Given the description of an element on the screen output the (x, y) to click on. 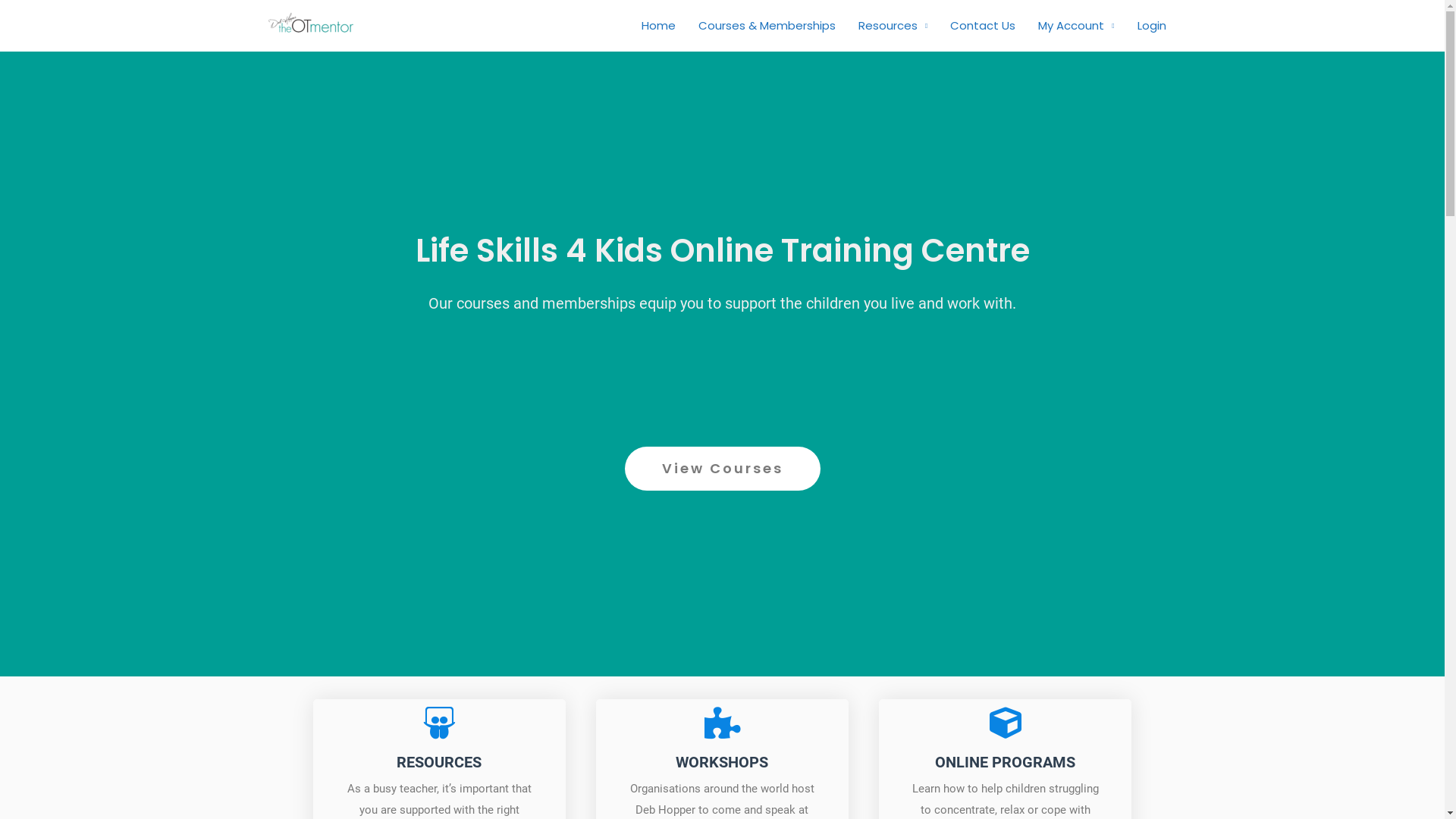
View Courses Element type: text (722, 468)
Resources Element type: text (892, 25)
Contact Us Element type: text (982, 25)
Courses & Memberships Element type: text (767, 25)
My Account Element type: text (1075, 25)
Login Element type: text (1150, 25)
Home Element type: text (658, 25)
